Given the description of an element on the screen output the (x, y) to click on. 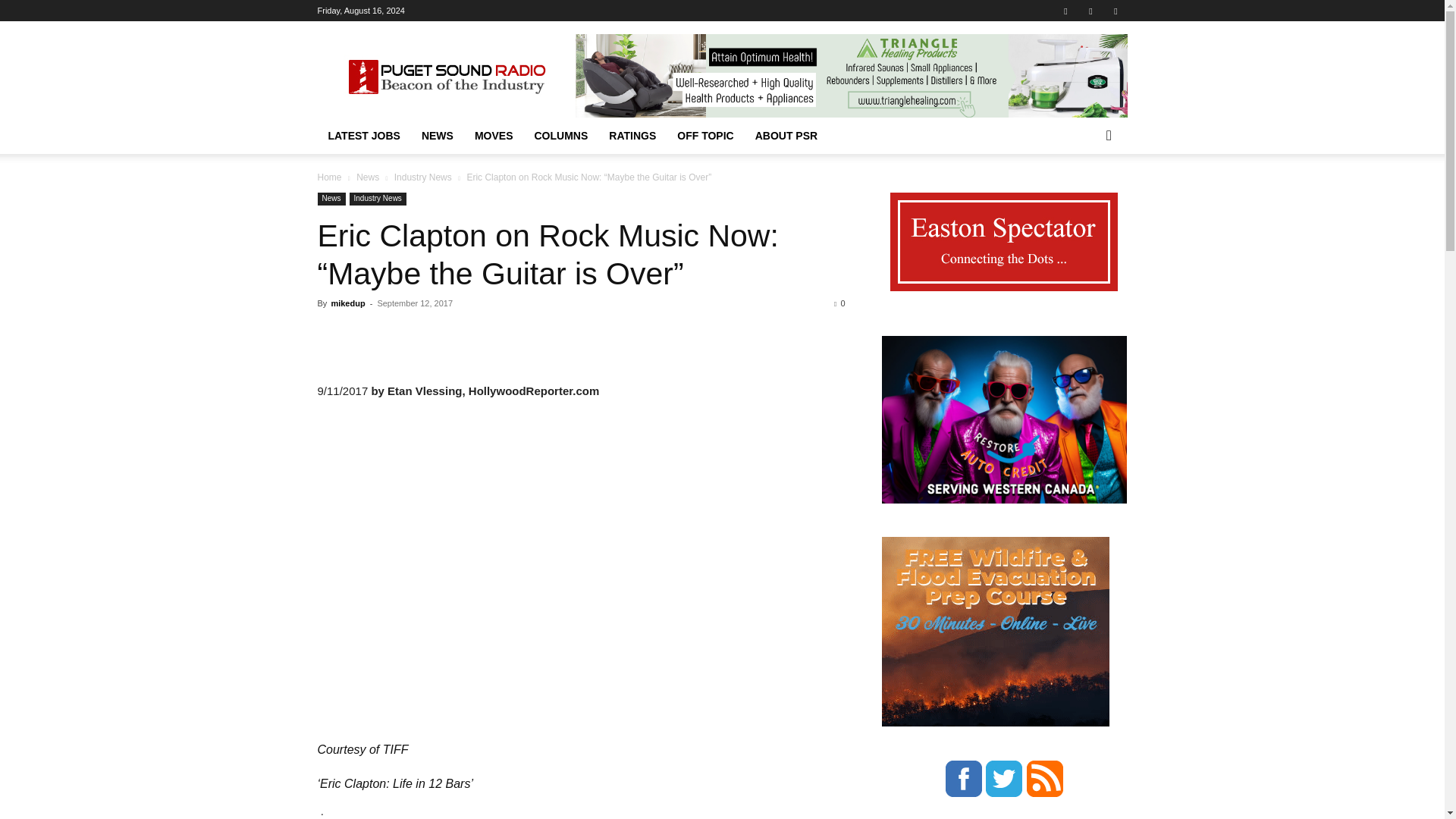
Facebook (1065, 10)
View all posts in News (367, 176)
View all posts in Industry News (422, 176)
Twitter (1114, 10)
RSS (1090, 10)
